Given the description of an element on the screen output the (x, y) to click on. 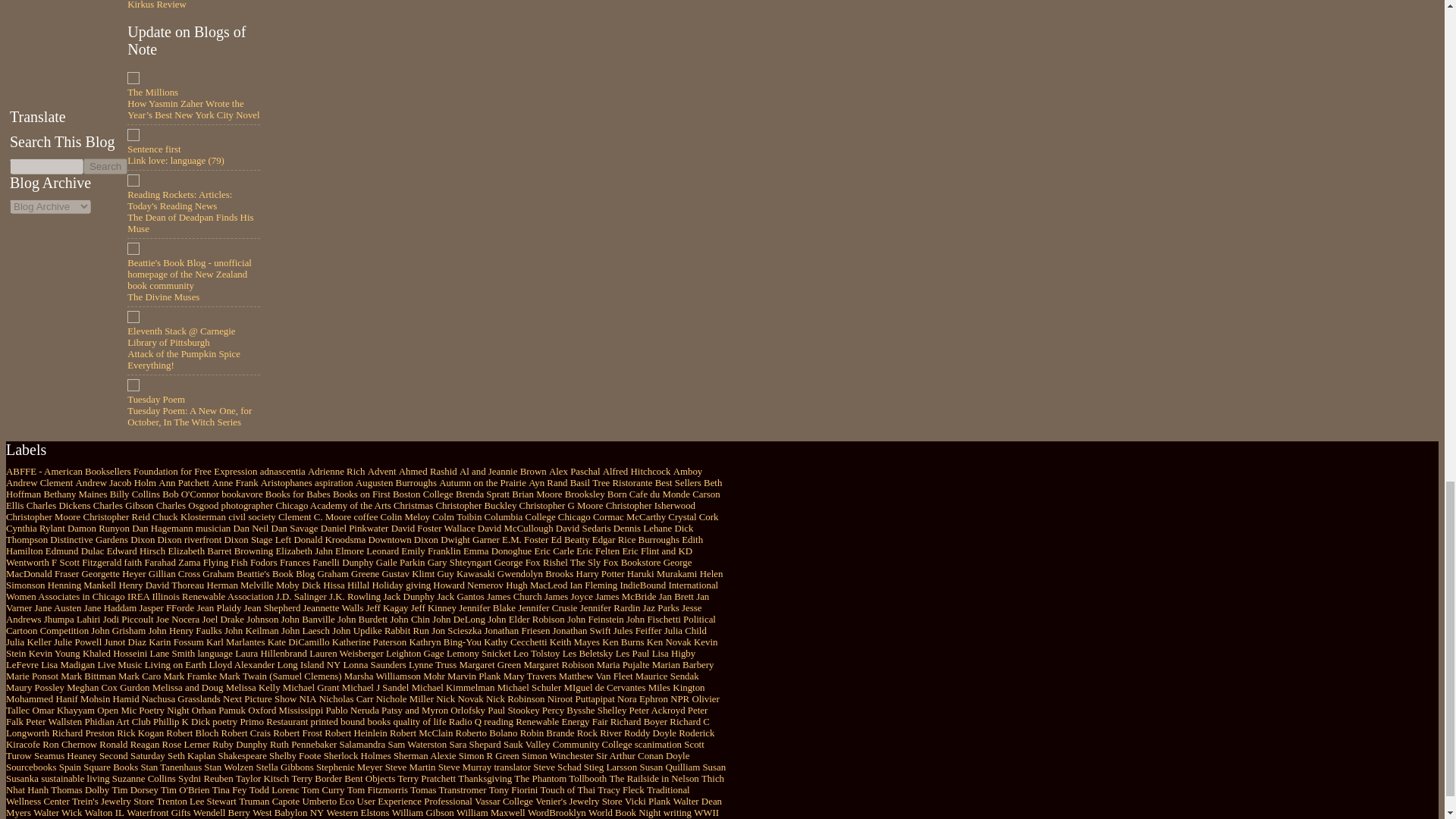
Reading Rockets: Articles: Today's Reading News (179, 200)
search (46, 166)
Search (105, 166)
Search (105, 166)
The Millions (152, 91)
Search (105, 166)
Sentence first (154, 149)
search (105, 166)
The Divine Muses (163, 296)
Kirkus Review (157, 4)
The Dean of Deadpan Finds His Muse (190, 223)
